Given the description of an element on the screen output the (x, y) to click on. 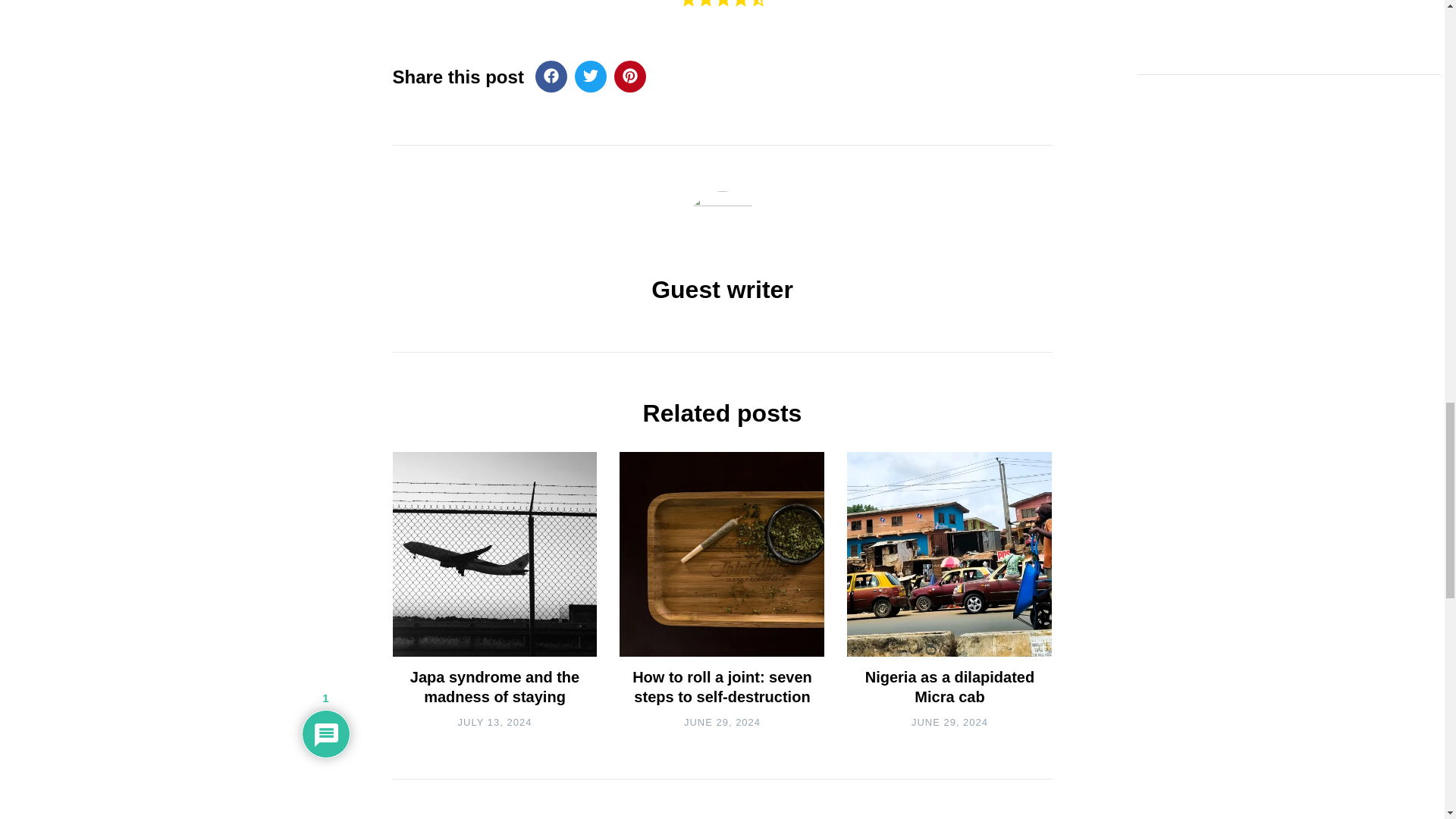
Japa syndrome and the madness of staying (494, 687)
Guest writer (721, 289)
Nigeria as a dilapidated Micra cab (948, 687)
JUNE 29, 2024 (722, 722)
JULY 13, 2024 (495, 722)
JUNE 29, 2024 (949, 722)
How to roll a joint: seven steps to self-destruction (721, 687)
